Given the description of an element on the screen output the (x, y) to click on. 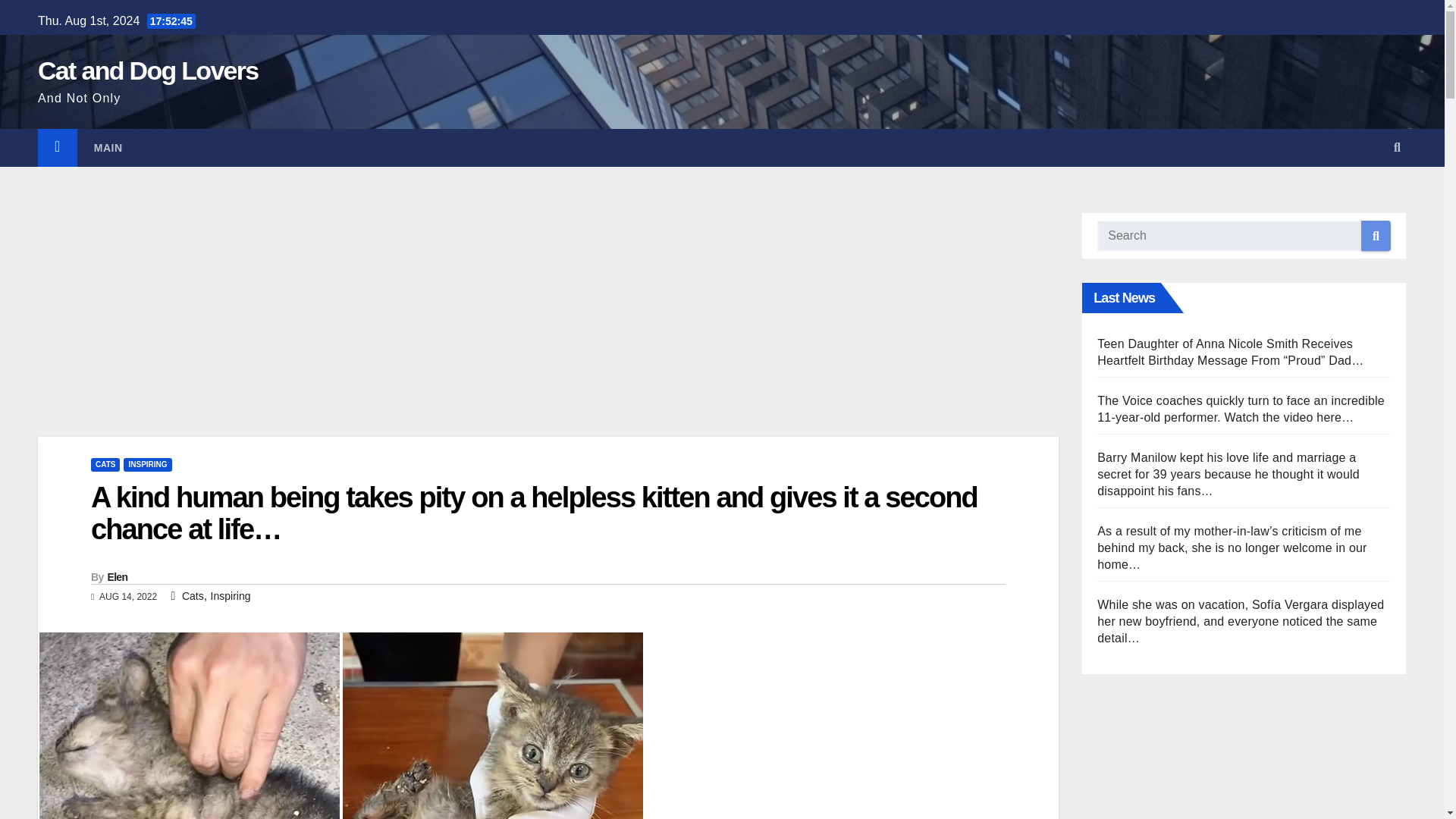
Inspiring (230, 595)
MAIN (108, 147)
Main (108, 147)
Elen (117, 576)
Cats (192, 595)
INSPIRING (147, 464)
CATS (104, 464)
Cat and Dog Lovers (148, 70)
